Given the description of an element on the screen output the (x, y) to click on. 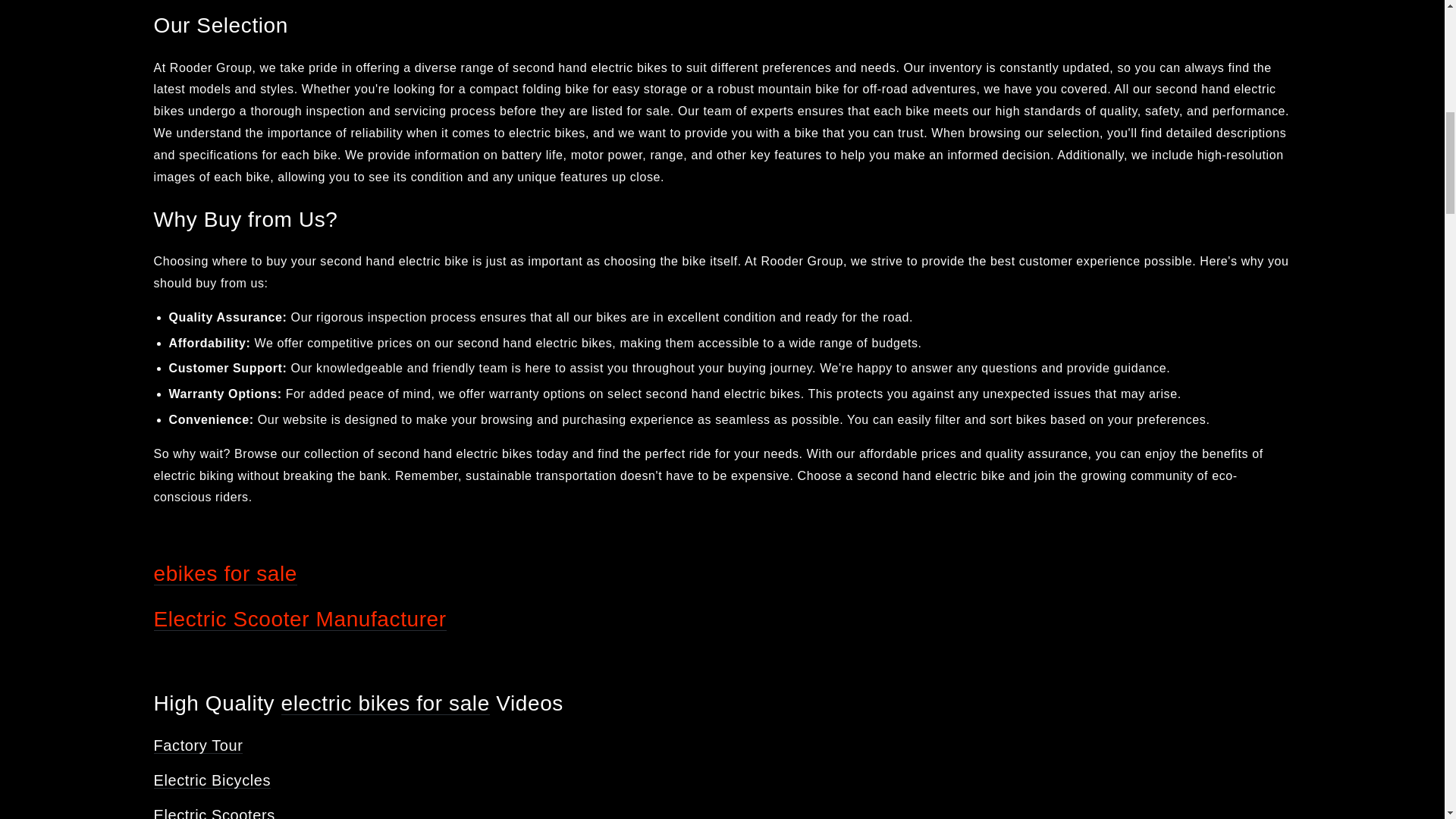
Electric Bicycles (211, 780)
electric bikes for sale (385, 702)
Factory Tour (197, 745)
Electric Scooter Manufacturer (298, 618)
ebikes for sale (224, 573)
Electric Scooters (213, 812)
electric bikes for sale (385, 702)
ebikes for sale (224, 573)
